Given the description of an element on the screen output the (x, y) to click on. 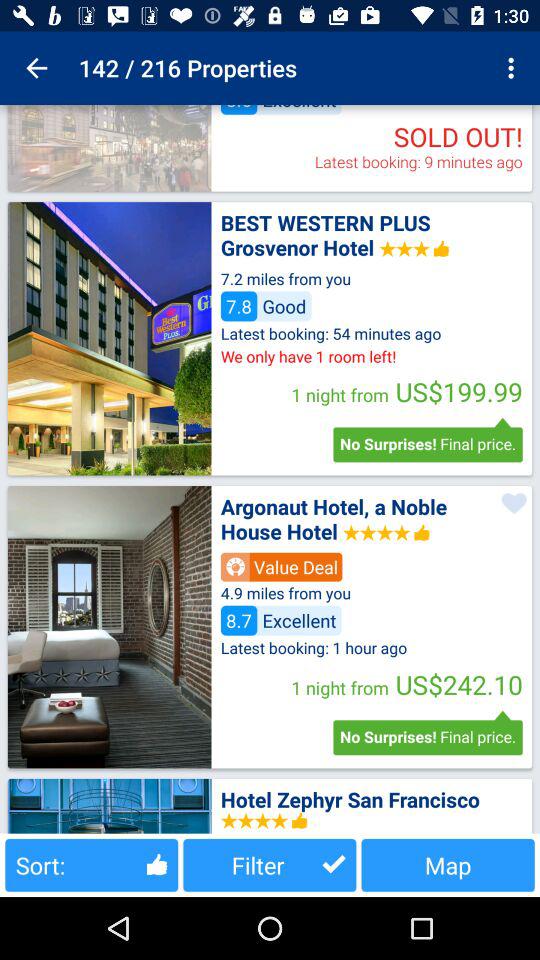
image of hotel (109, 148)
